Given the description of an element on the screen output the (x, y) to click on. 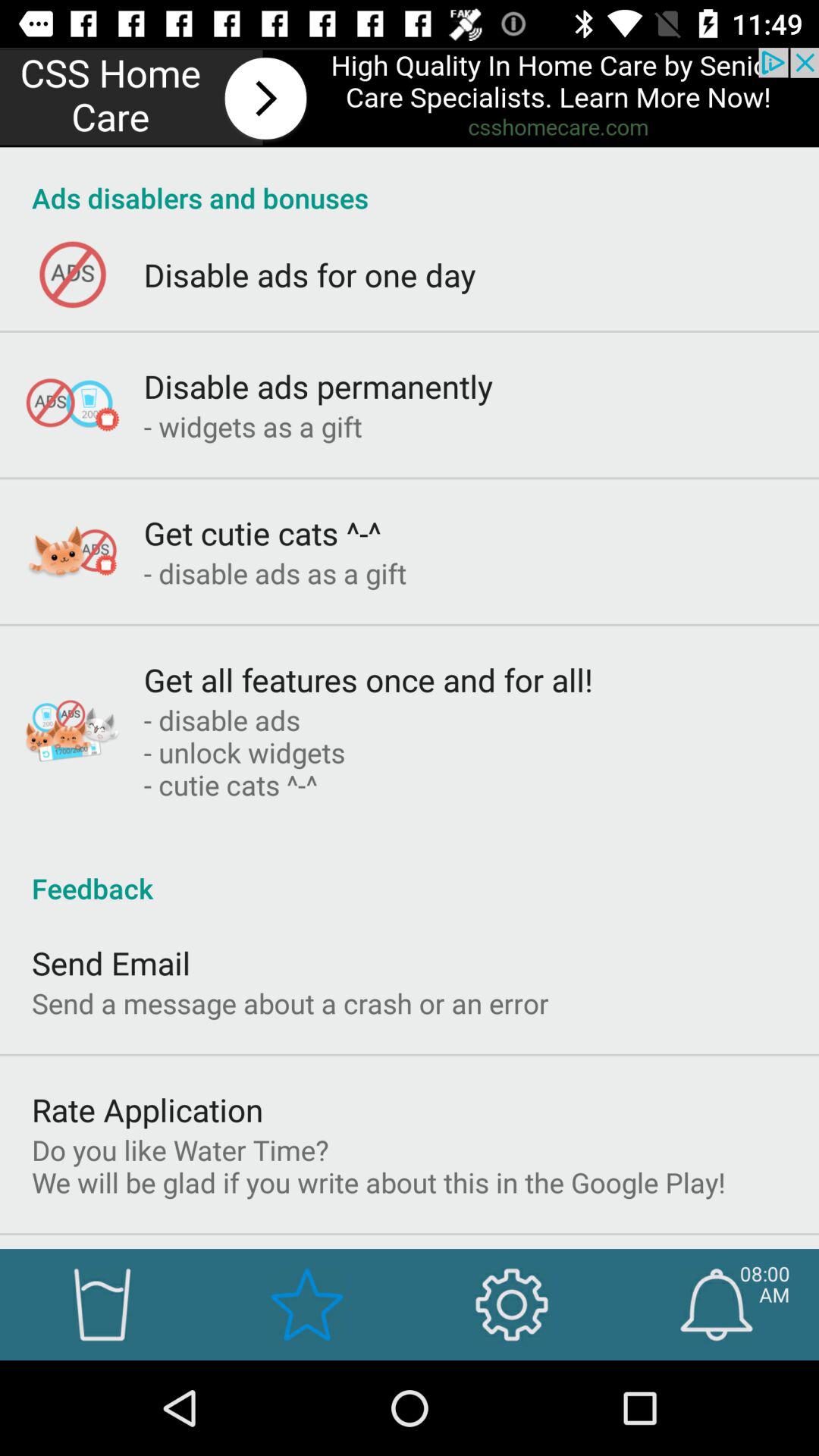
share the article (409, 97)
